Given the description of an element on the screen output the (x, y) to click on. 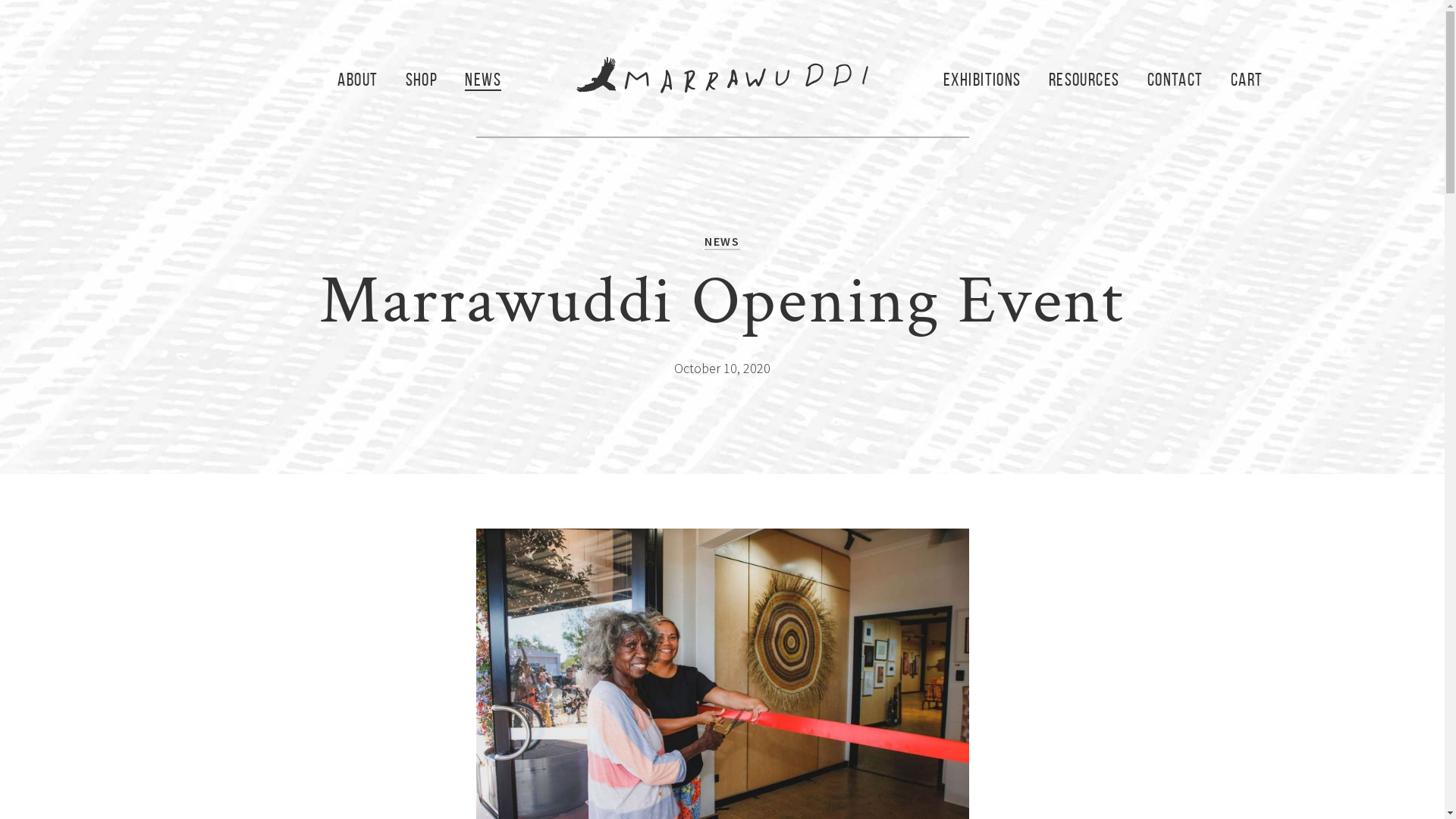
MARRAWUDDI ARTS AND CULTURE Element type: text (722, 74)
About Element type: text (357, 79)
Exhibitions Element type: text (982, 79)
NEWS Element type: text (721, 241)
Shop Element type: text (421, 79)
Skip to content Element type: text (721, 60)
Contact Element type: text (1174, 79)
Resources Element type: text (1083, 79)
Cart Element type: text (1246, 79)
News Element type: text (483, 79)
